Given the description of an element on the screen output the (x, y) to click on. 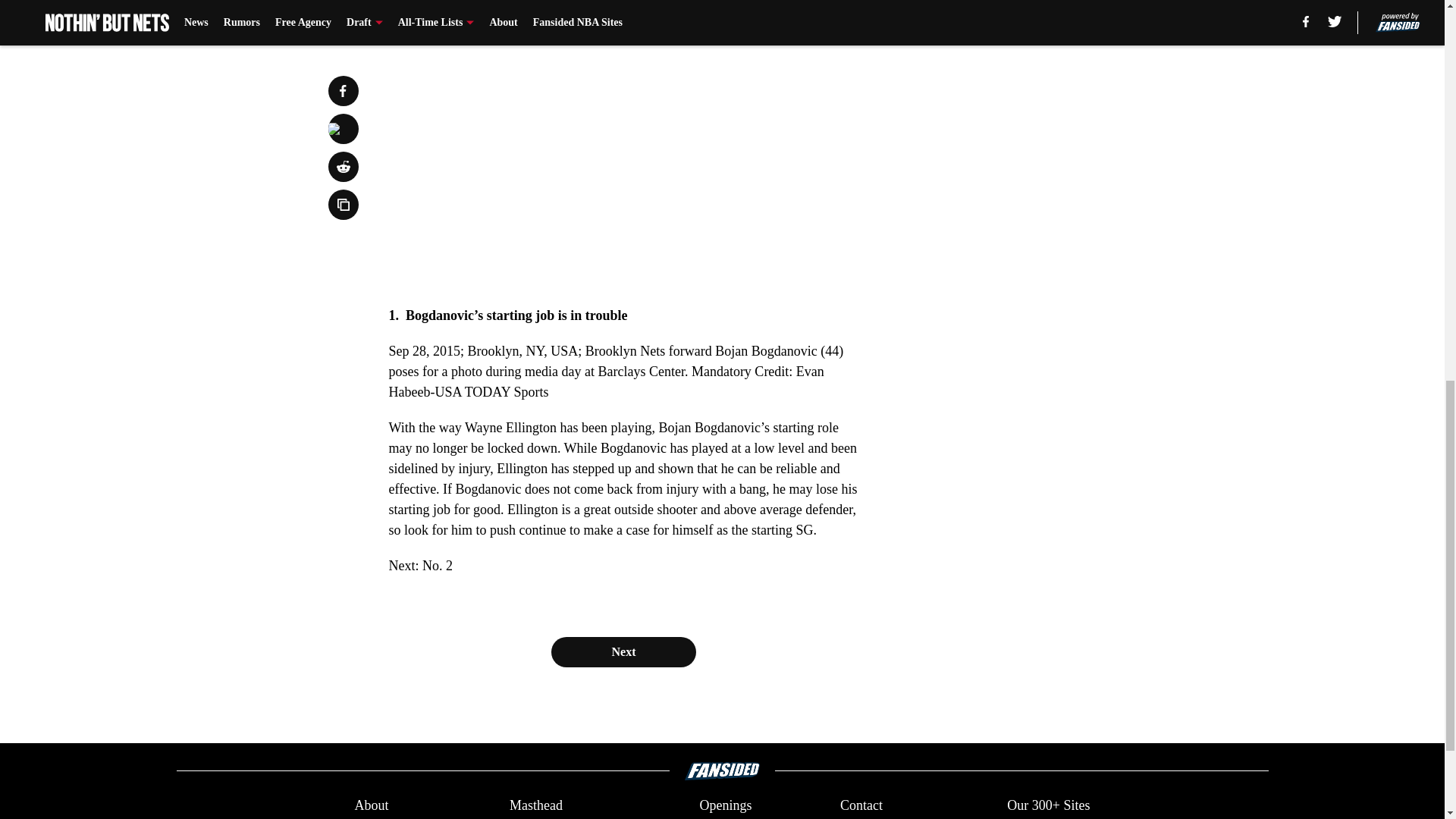
Masthead (535, 805)
Contact (861, 805)
Prev (433, 5)
Next (813, 5)
Next (622, 652)
Openings (724, 805)
About (370, 805)
